Given the description of an element on the screen output the (x, y) to click on. 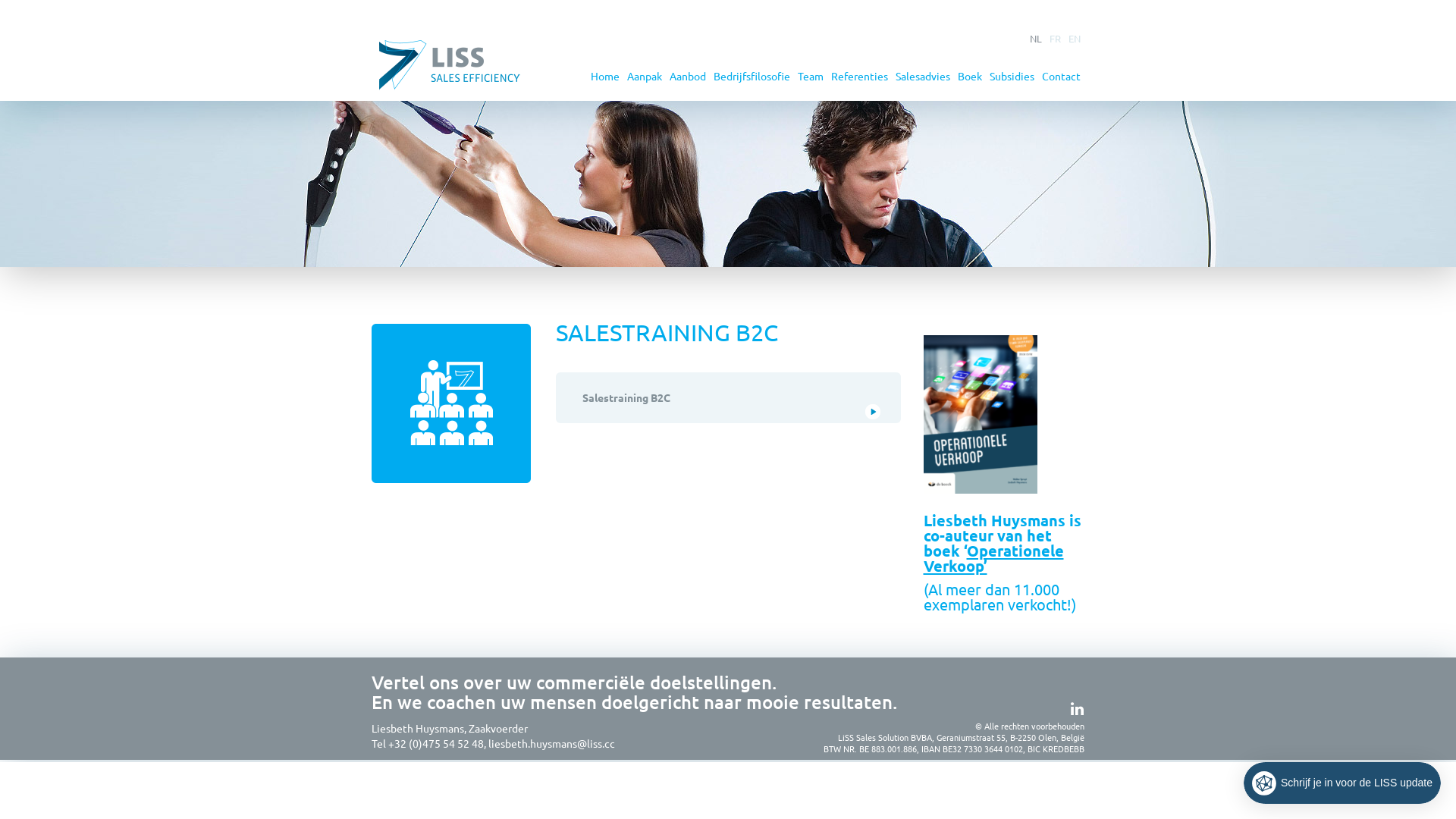
NL Element type: text (1035, 37)
Salesadvies Element type: text (922, 75)
Salestraining B2C  Element type: text (727, 397)
Contact Element type: text (1060, 75)
Team Element type: text (810, 75)
Subsidies Element type: text (1011, 75)
EN Element type: text (1074, 37)
liesbeth.huysmans@liss.cc  Element type: text (552, 742)
Boek Element type: text (969, 75)
Aanbod Element type: text (687, 75)
FR Element type: text (1054, 37)
Home Element type: text (604, 75)
Bedrijfsfilosofie Element type: text (751, 75)
Referenties Element type: text (859, 75)
Aanpak Element type: text (644, 75)
